Given the description of an element on the screen output the (x, y) to click on. 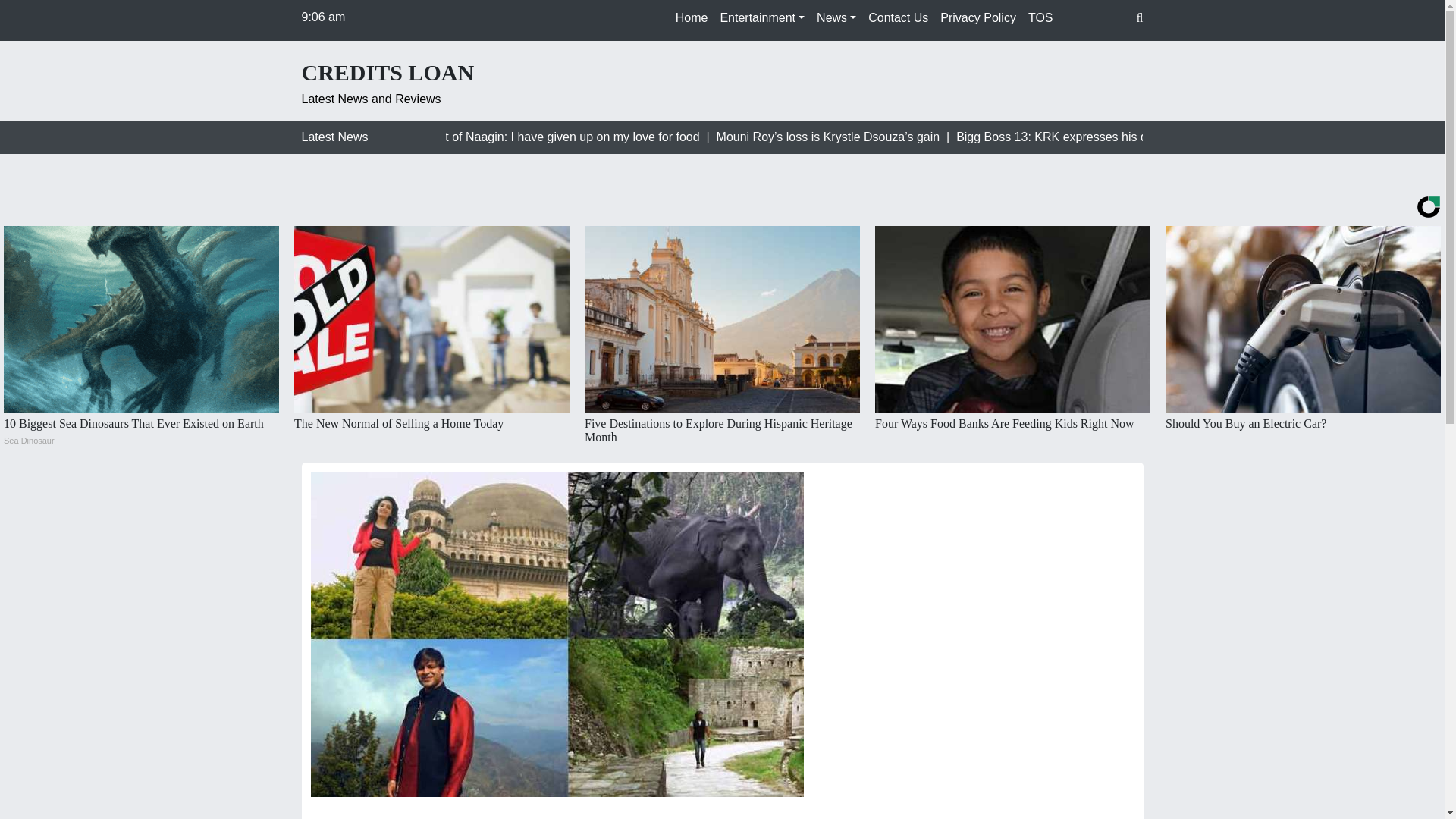
Home (691, 18)
Contact Us (897, 18)
News (835, 18)
CREDITS LOAN (387, 72)
Privacy Policy (978, 18)
Search (24, 13)
TOS (1040, 18)
Entertainment (761, 18)
